Given the description of an element on the screen output the (x, y) to click on. 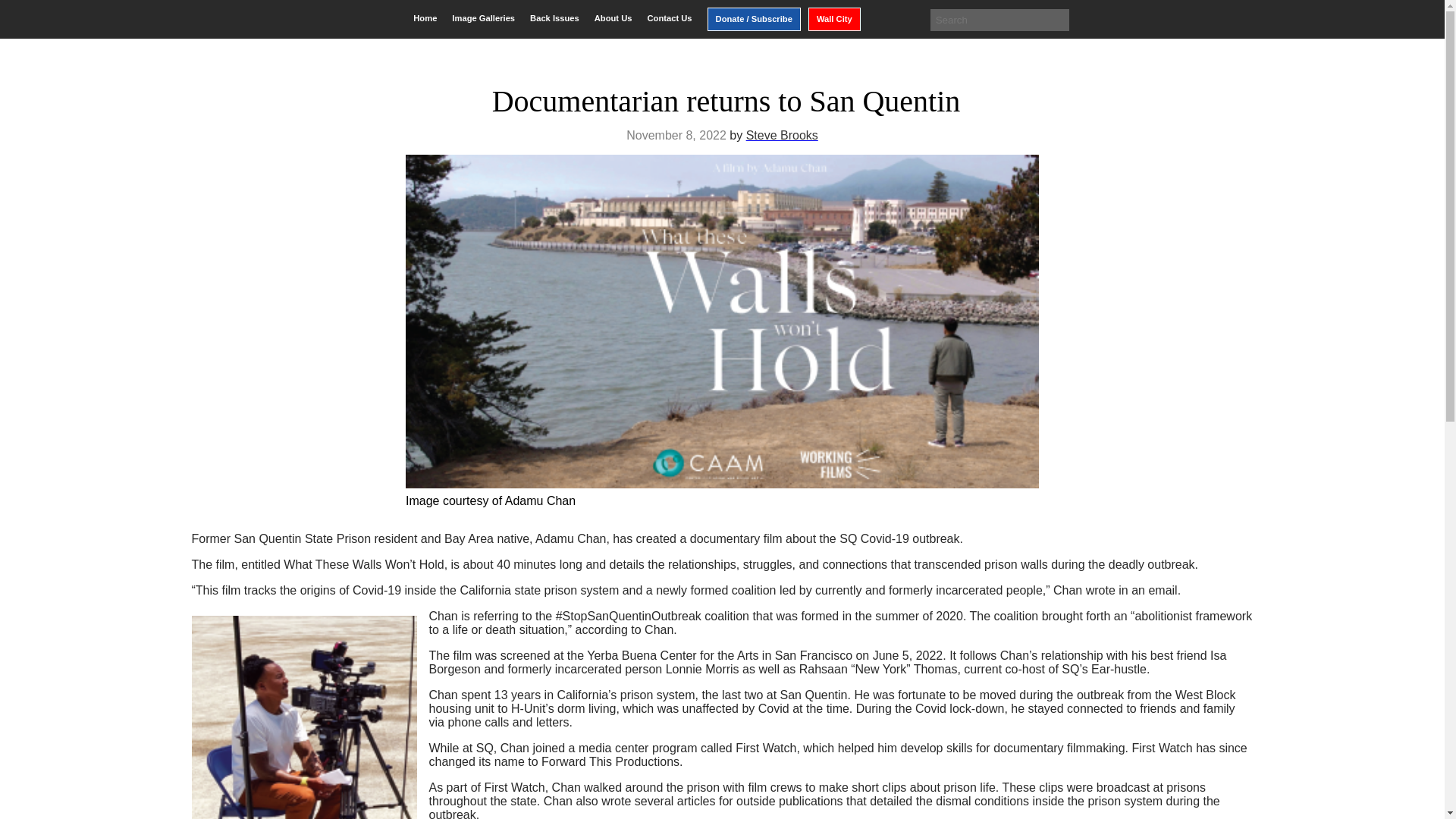
About Us (612, 17)
Back Issues (554, 17)
Home (424, 17)
Wall City (833, 18)
Contact Us (668, 17)
Image Galleries (483, 17)
Steve Brooks (781, 134)
Search (22, 12)
